Given the description of an element on the screen output the (x, y) to click on. 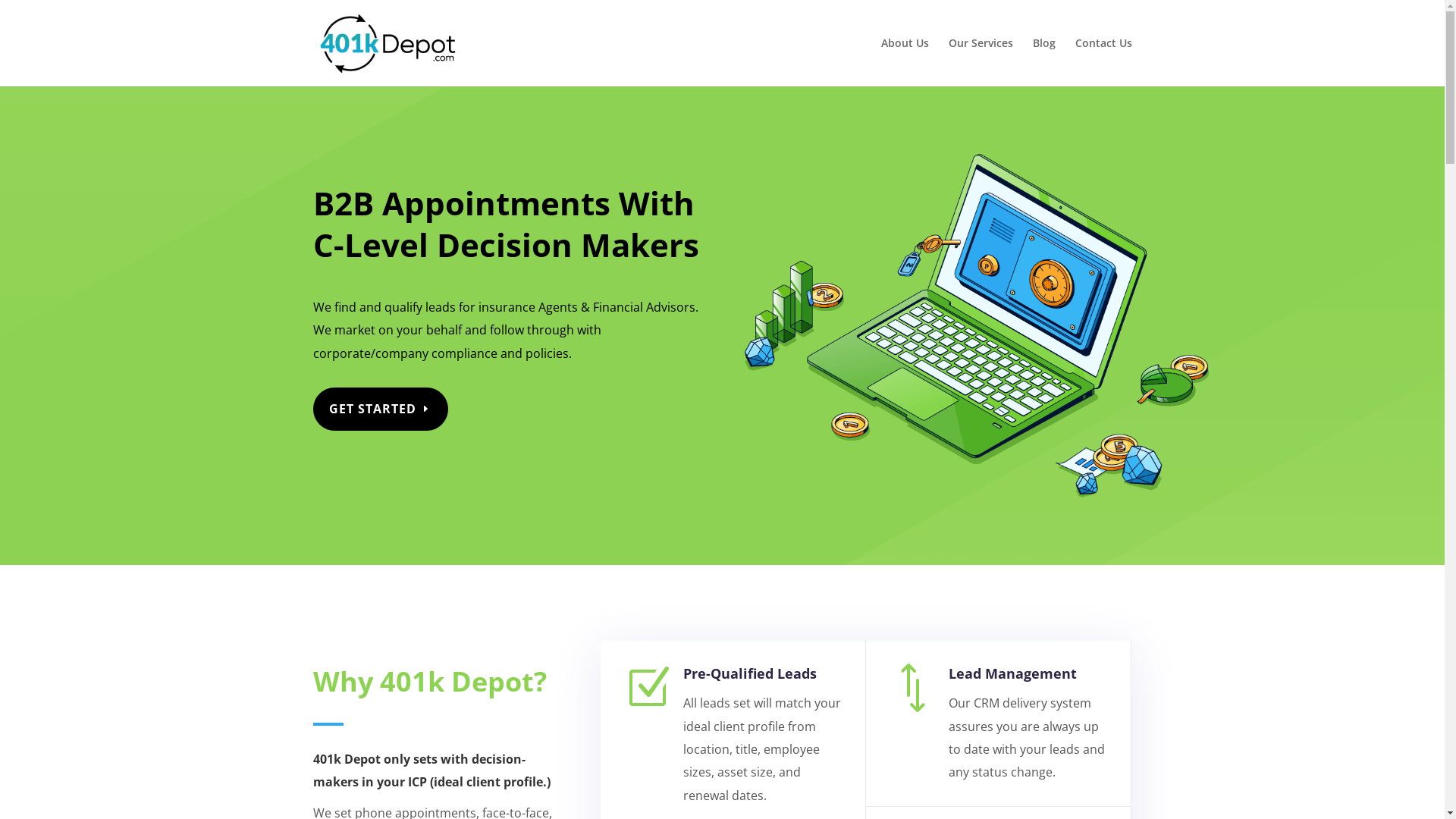
Pre-Qualified Leads Element type: text (749, 673)
Our Services Element type: text (979, 61)
About Us Element type: text (904, 61)
Z Element type: text (647, 687)
GET STARTED Element type: text (379, 408)
Contact Us Element type: text (1103, 61)
Lead Management Element type: text (1012, 673)
Blog Element type: text (1043, 61)
header [Converted] Element type: hover (937, 296)
* Element type: text (912, 687)
